Given the description of an element on the screen output the (x, y) to click on. 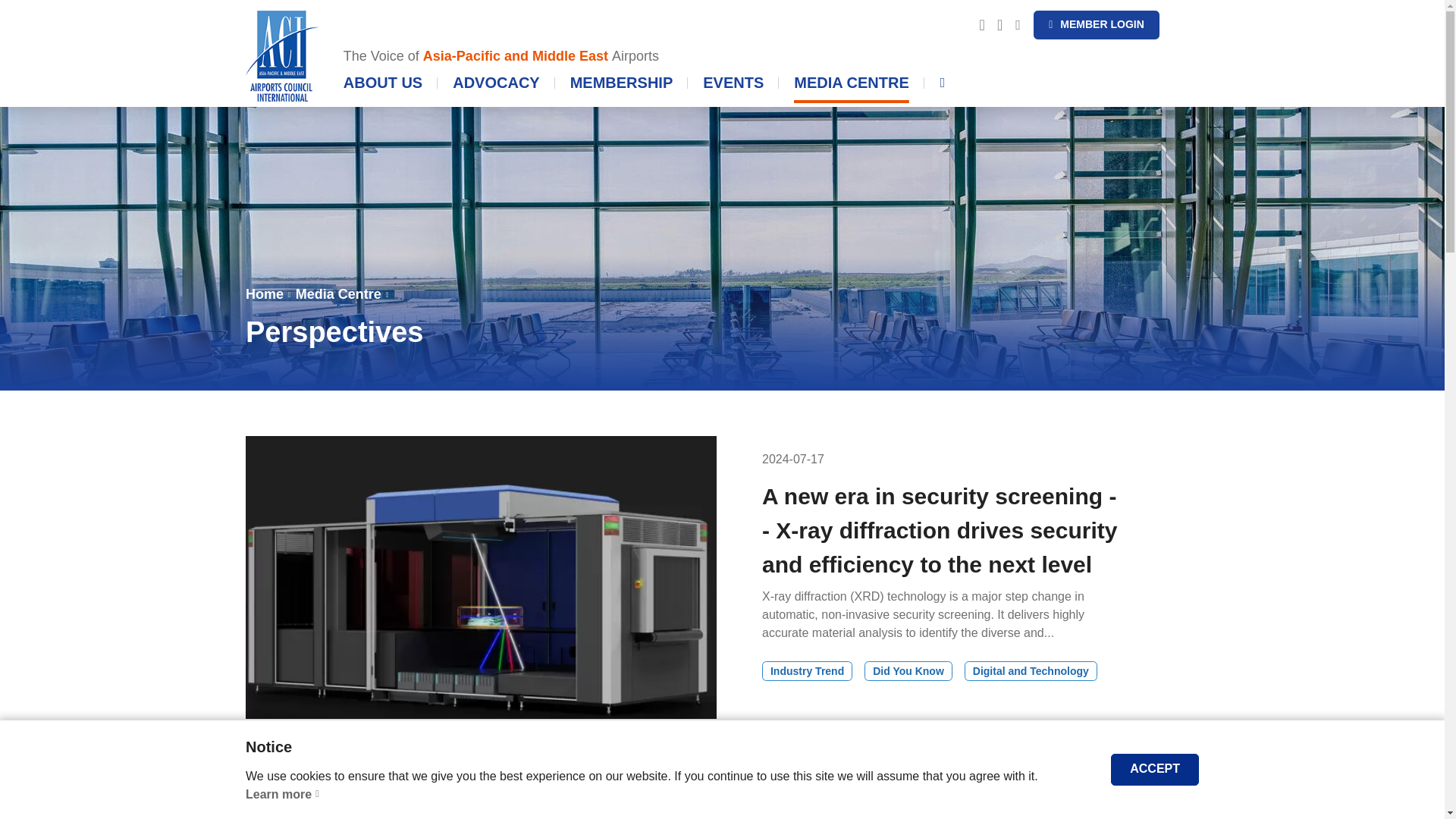
ADVOCACY (495, 87)
ABOUT US (661, 55)
